Given the description of an element on the screen output the (x, y) to click on. 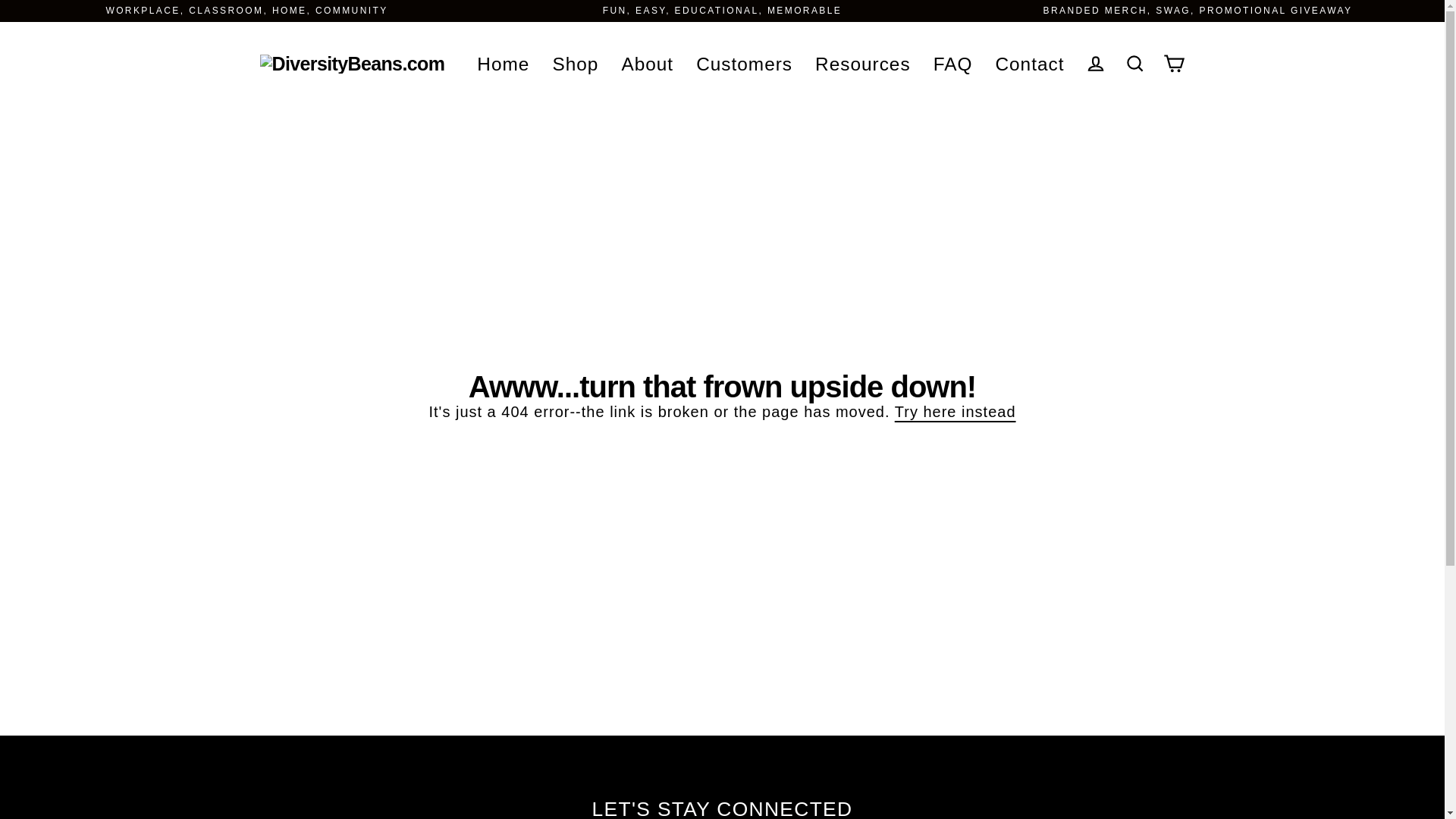
Shop (575, 63)
About (647, 63)
Resources (862, 63)
Home (502, 63)
FAQ (952, 63)
Customers (743, 63)
Contact (1029, 63)
Log in (1095, 63)
